Given the description of an element on the screen output the (x, y) to click on. 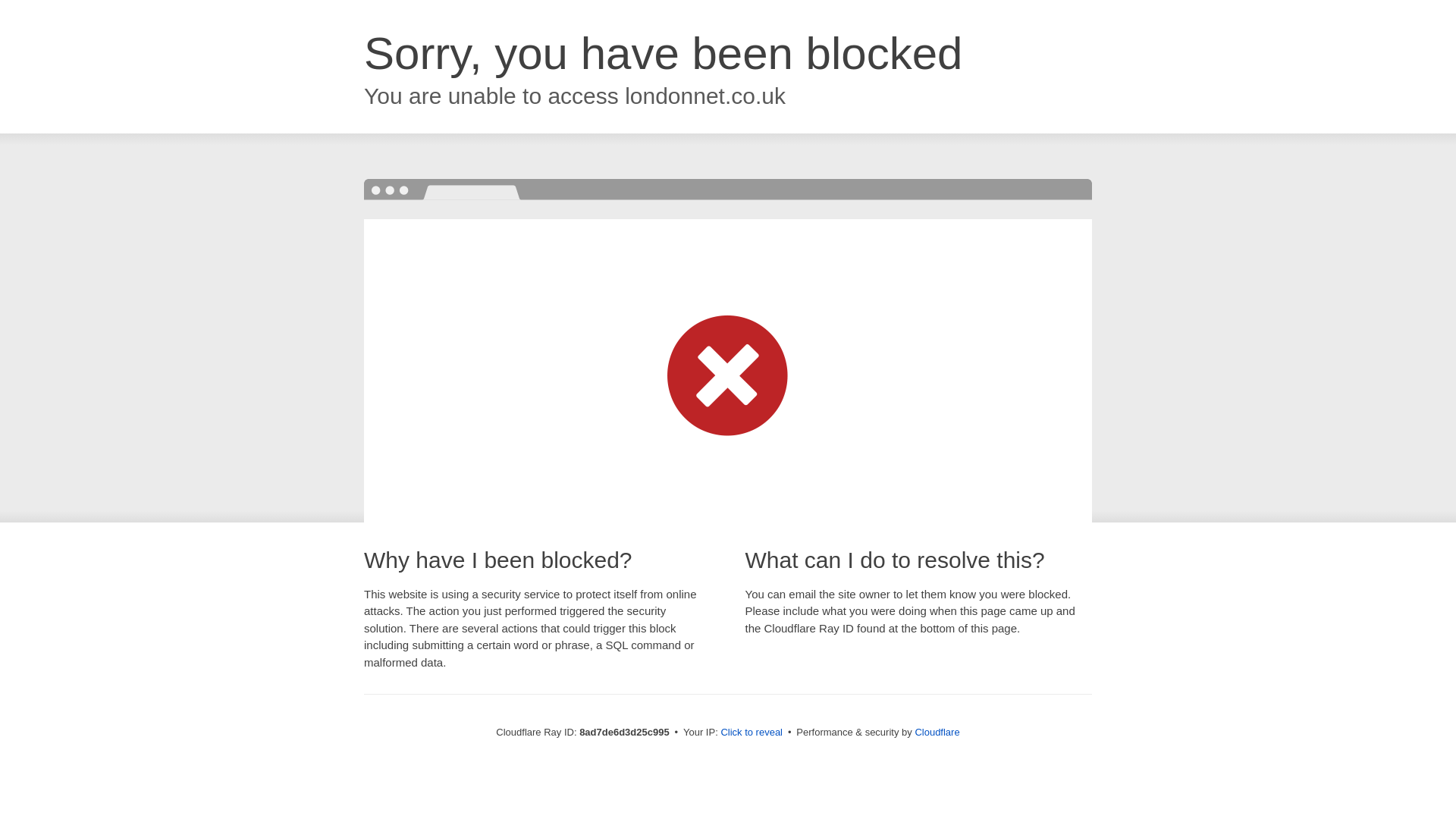
Click to reveal (751, 732)
Cloudflare (936, 731)
